Given the description of an element on the screen output the (x, y) to click on. 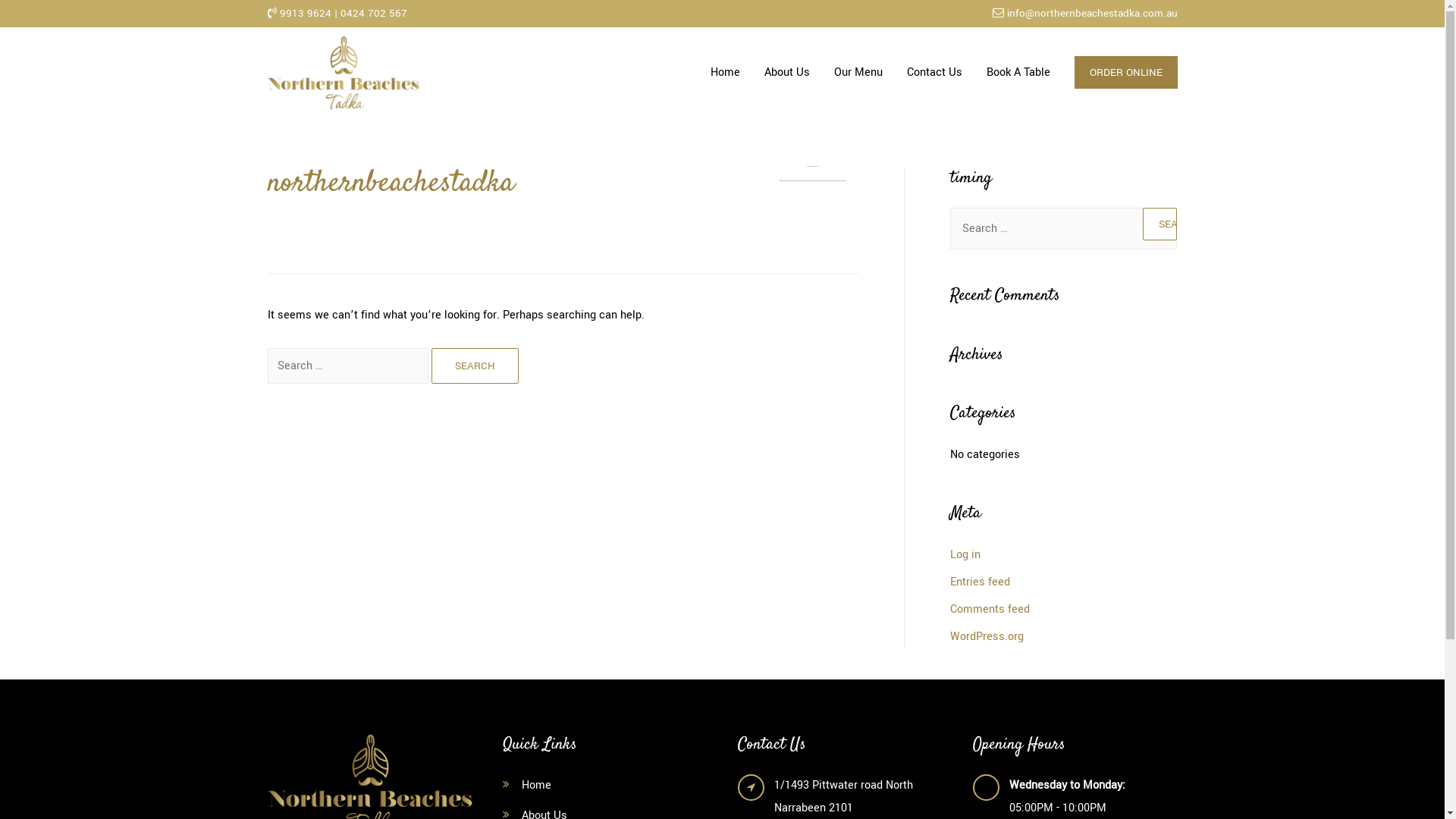
Entries feed Element type: text (979, 581)
9913 9624 Element type: text (304, 13)
Search Element type: text (473, 365)
Comments feed Element type: text (989, 609)
Book A Table Element type: text (1017, 72)
Search Element type: text (1159, 223)
0424 702 567 Element type: text (372, 13)
info@northernbeachestadka.com.au Element type: text (1092, 13)
Our Menu Element type: text (858, 72)
Log in Element type: text (964, 554)
Contact Us Element type: text (934, 72)
Home Element type: text (724, 72)
WordPress.org Element type: text (985, 636)
ORDER ONLINE Element type: text (1118, 72)
About Us Element type: text (787, 72)
Home Element type: text (536, 785)
